Given the description of an element on the screen output the (x, y) to click on. 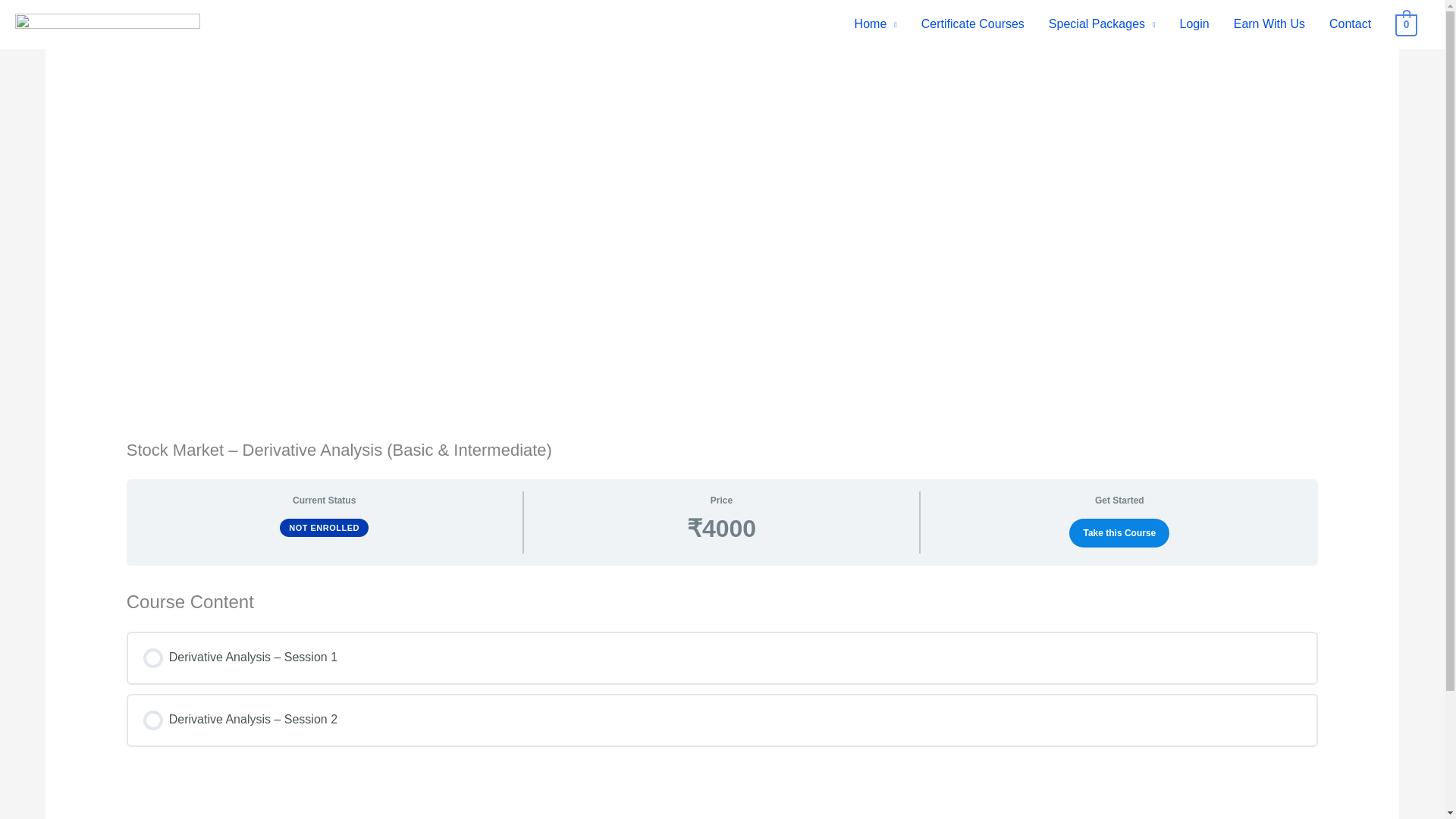
Home (875, 24)
Special Packages (1101, 24)
Login (1194, 24)
0 (1405, 24)
Earn With Us (1269, 24)
Take this Course (1118, 532)
Contact (1350, 24)
Log In (528, 540)
Certificate Courses (972, 24)
